Given the description of an element on the screen output the (x, y) to click on. 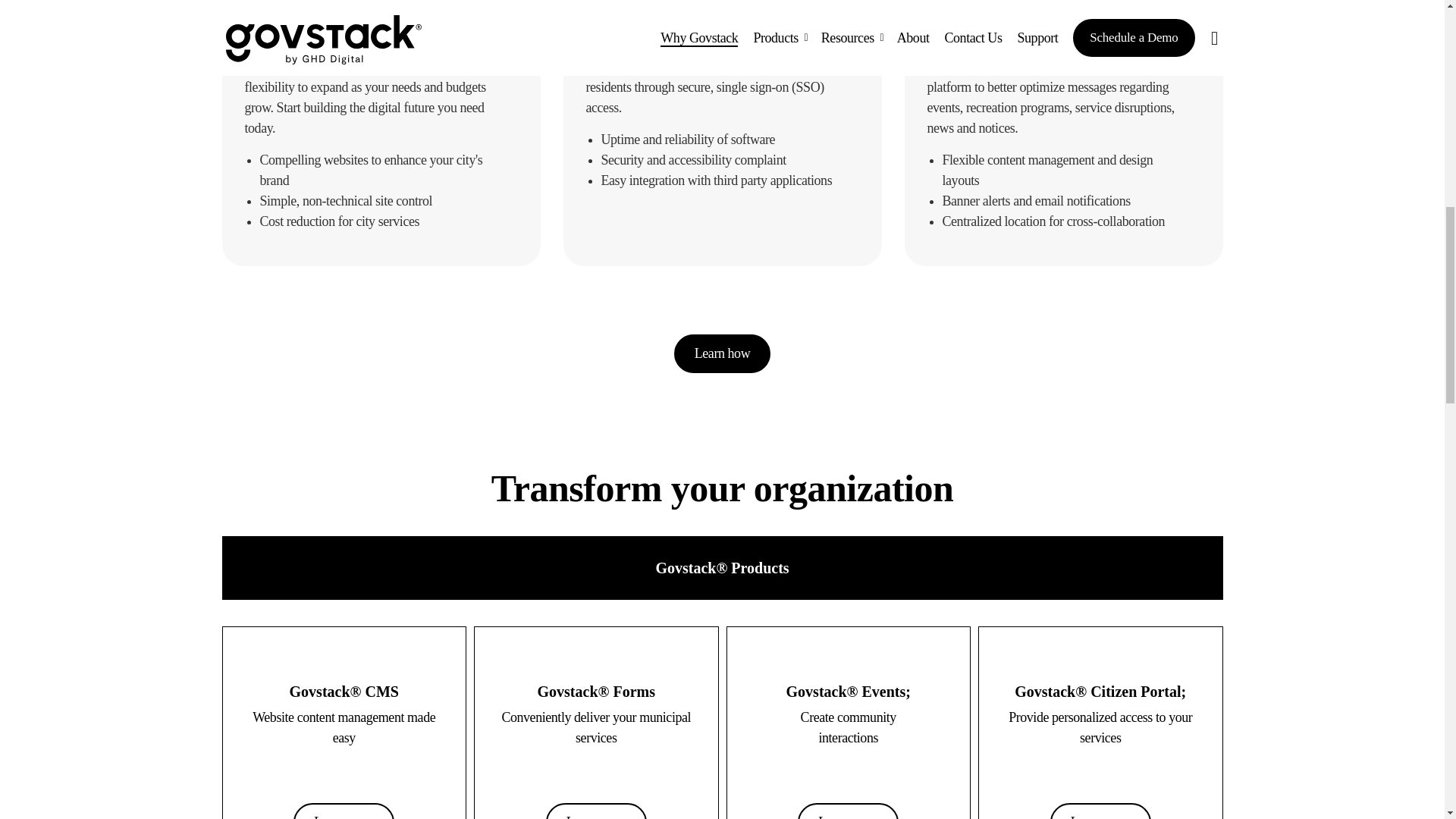
Learn how (722, 353)
